Given the description of an element on the screen output the (x, y) to click on. 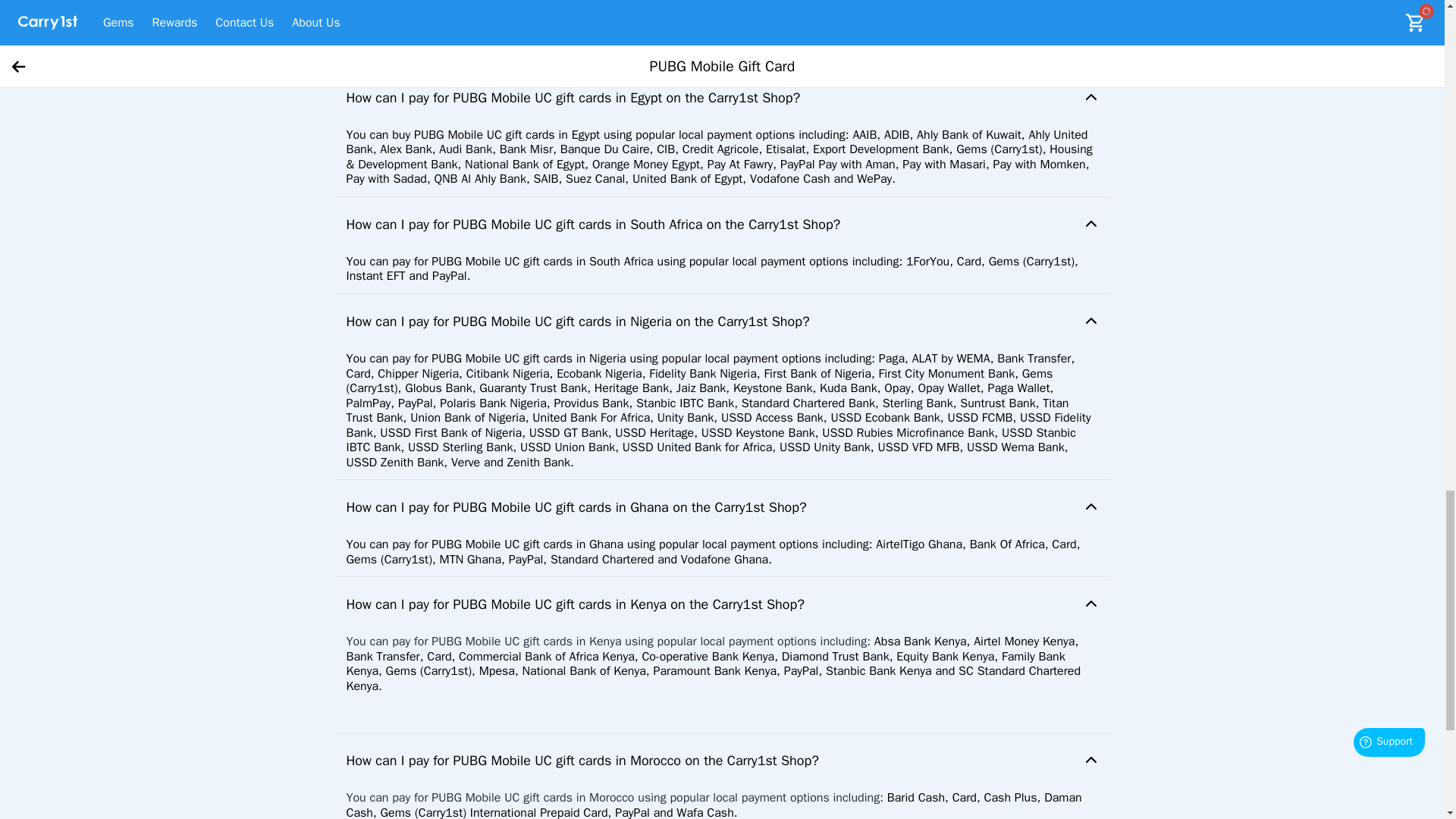
Please visit the Midasbuy website here (449, 7)
